Given the description of an element on the screen output the (x, y) to click on. 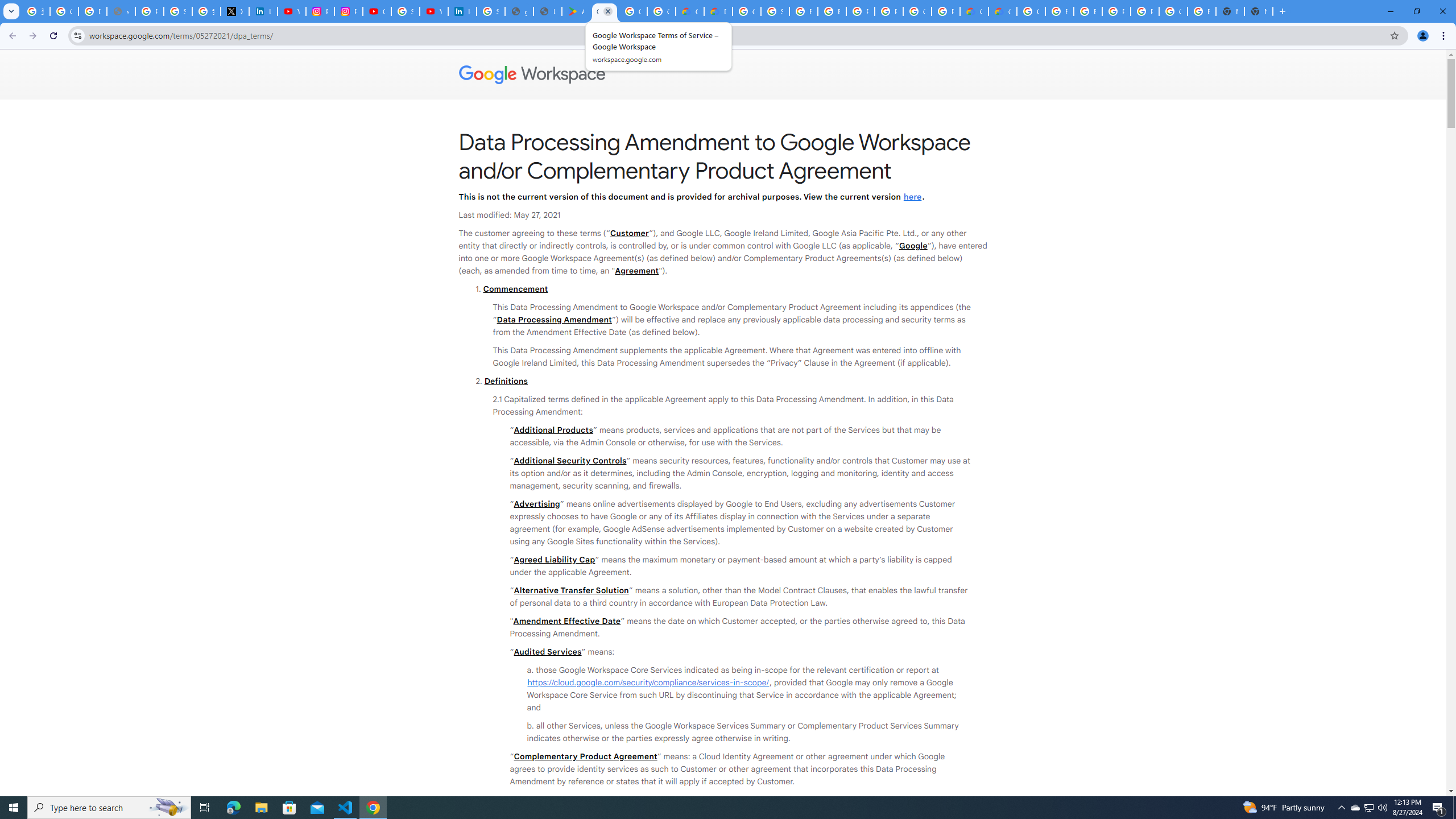
LinkedIn Privacy Policy (263, 11)
Browse Chrome as a guest - Computer - Google Chrome Help (803, 11)
Browse Chrome as a guest - Computer - Google Chrome Help (1058, 11)
Sign in - Google Accounts (774, 11)
Customer Care | Google Cloud (690, 11)
